Given the description of an element on the screen output the (x, y) to click on. 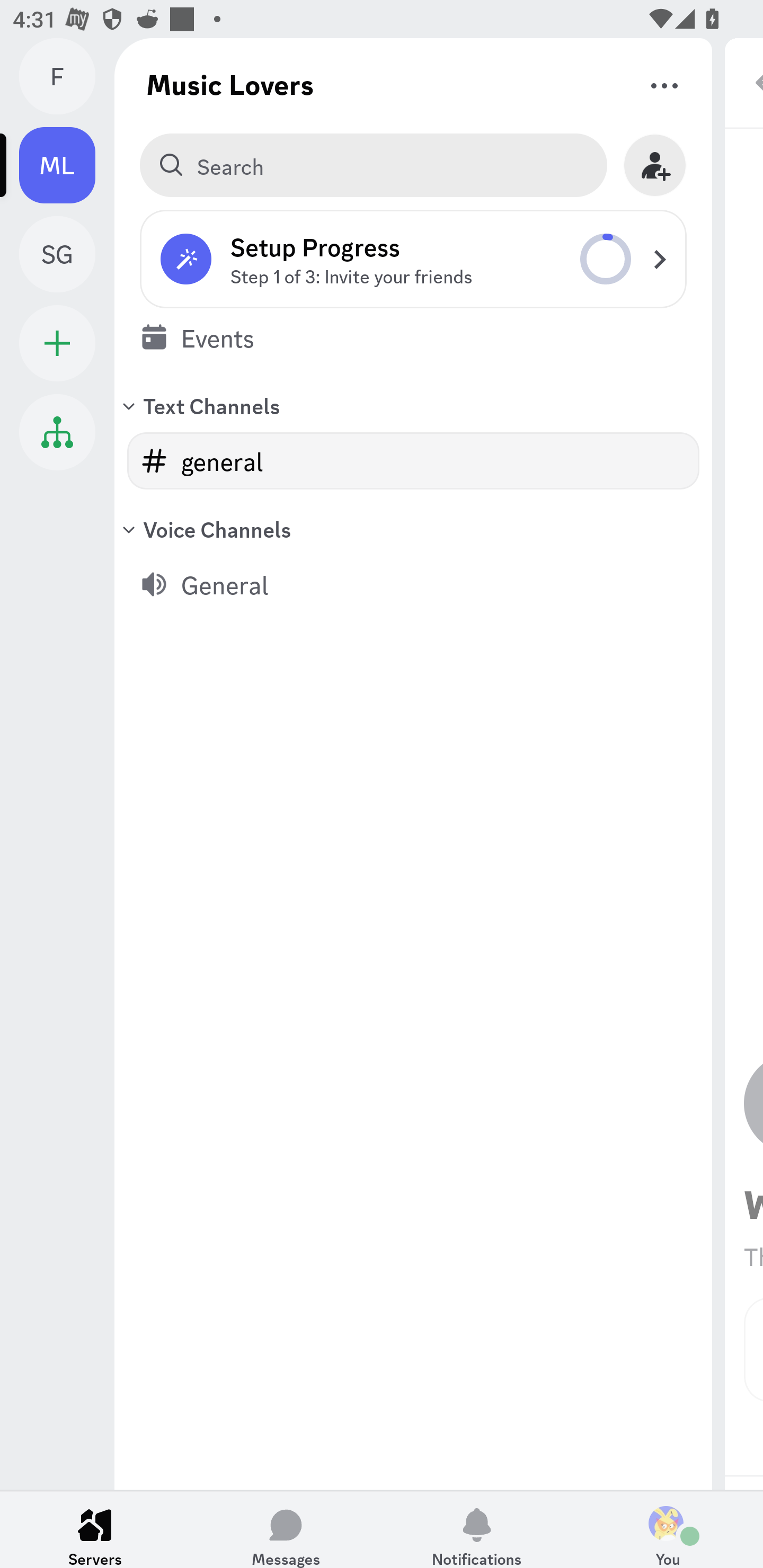
  Friends F (66, 75)
Music Lovers (230, 83)
  Music Lovers ML (66, 165)
Search (373, 165)
Invite (654, 165)
  Study Group SG (66, 253)
Add a Server (57, 343)
Events (413, 336)
Text Channels (412, 404)
Student Hub (57, 431)
general (text channel) general (413, 460)
Voice Channels (412, 528)
General (voice channel), 0 users General (413, 584)
Servers (95, 1529)
Messages (285, 1529)
Notifications (476, 1529)
You (667, 1529)
